Given the description of an element on the screen output the (x, y) to click on. 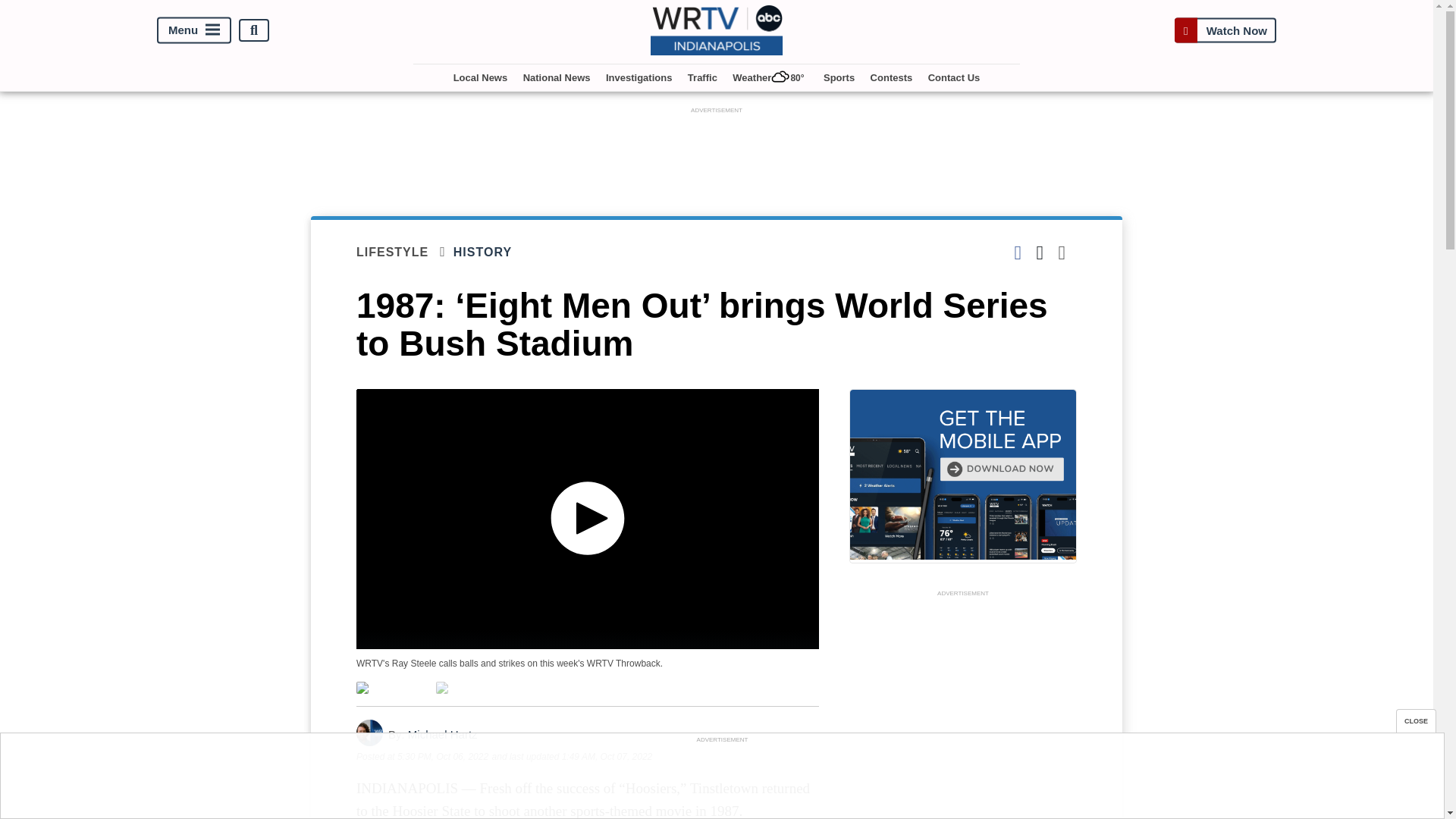
3rd party ad content (721, 780)
3rd party ad content (716, 151)
Watch Now (1224, 30)
3rd party ad content (962, 709)
Menu (194, 30)
